Given the description of an element on the screen output the (x, y) to click on. 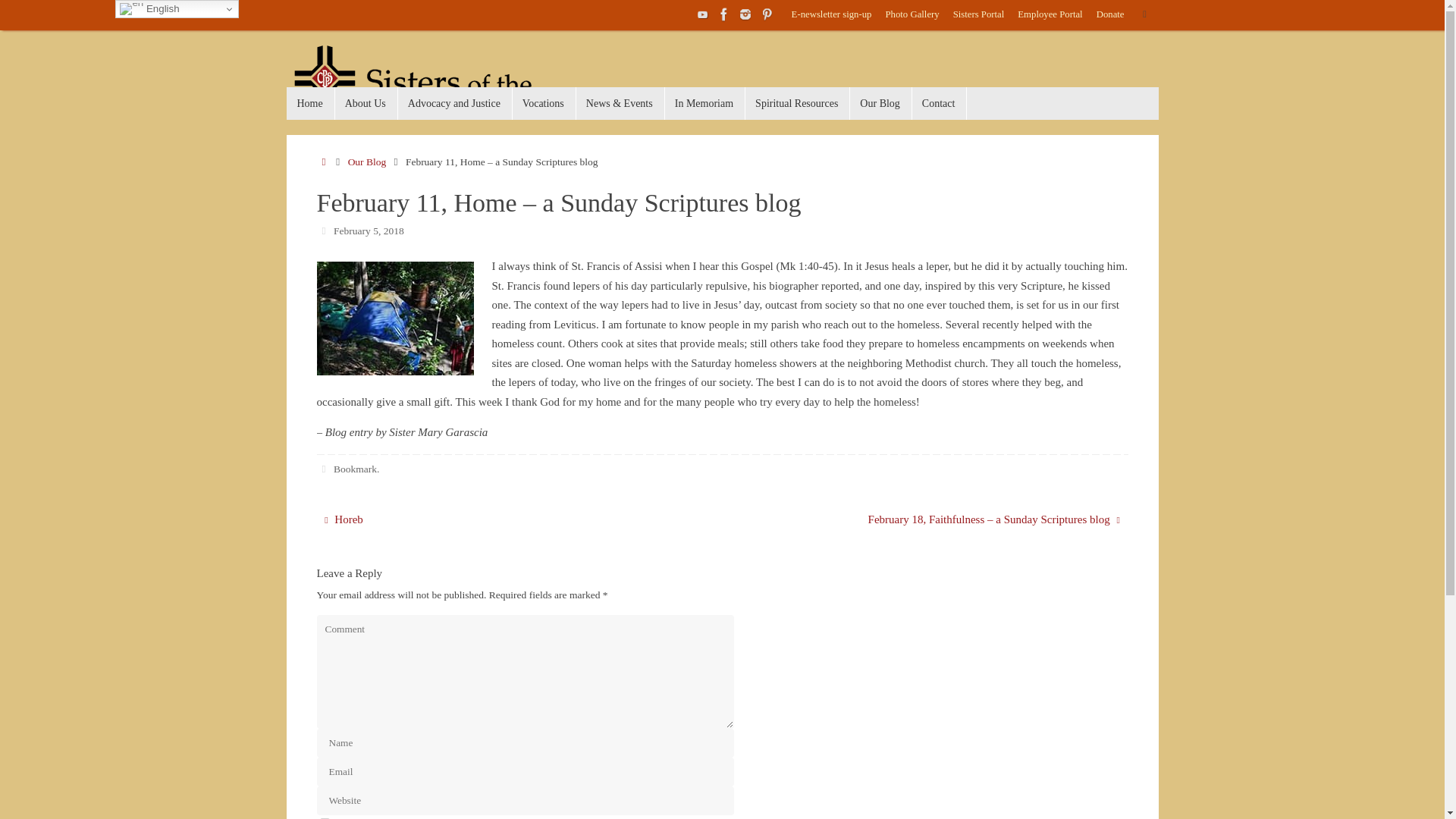
YouTube (703, 14)
Our Blog (367, 161)
Sisters of the Precious Blood (442, 90)
Employee Portal (1049, 15)
In Memoriam (703, 102)
Home (324, 161)
Our Blog (879, 102)
Pinterest (766, 14)
Facebook (724, 14)
Contact (938, 102)
